Given the description of an element on the screen output the (x, y) to click on. 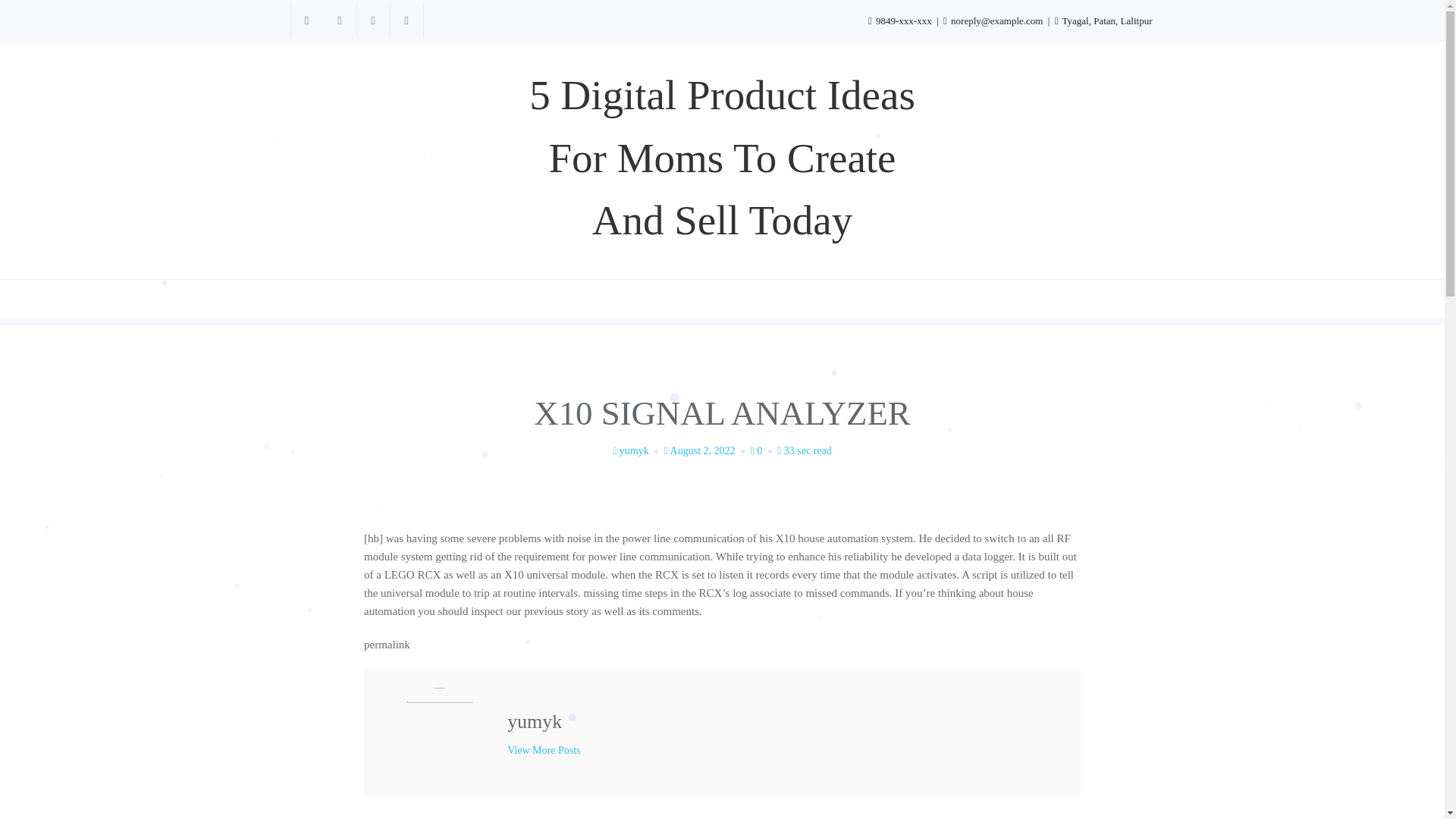
August 2, 2022 (705, 450)
33 sec read (804, 450)
0 (762, 450)
View More Posts (542, 750)
yumyk (636, 450)
5 Digital Product Ideas For Moms To Create And Sell Today (721, 158)
